Given the description of an element on the screen output the (x, y) to click on. 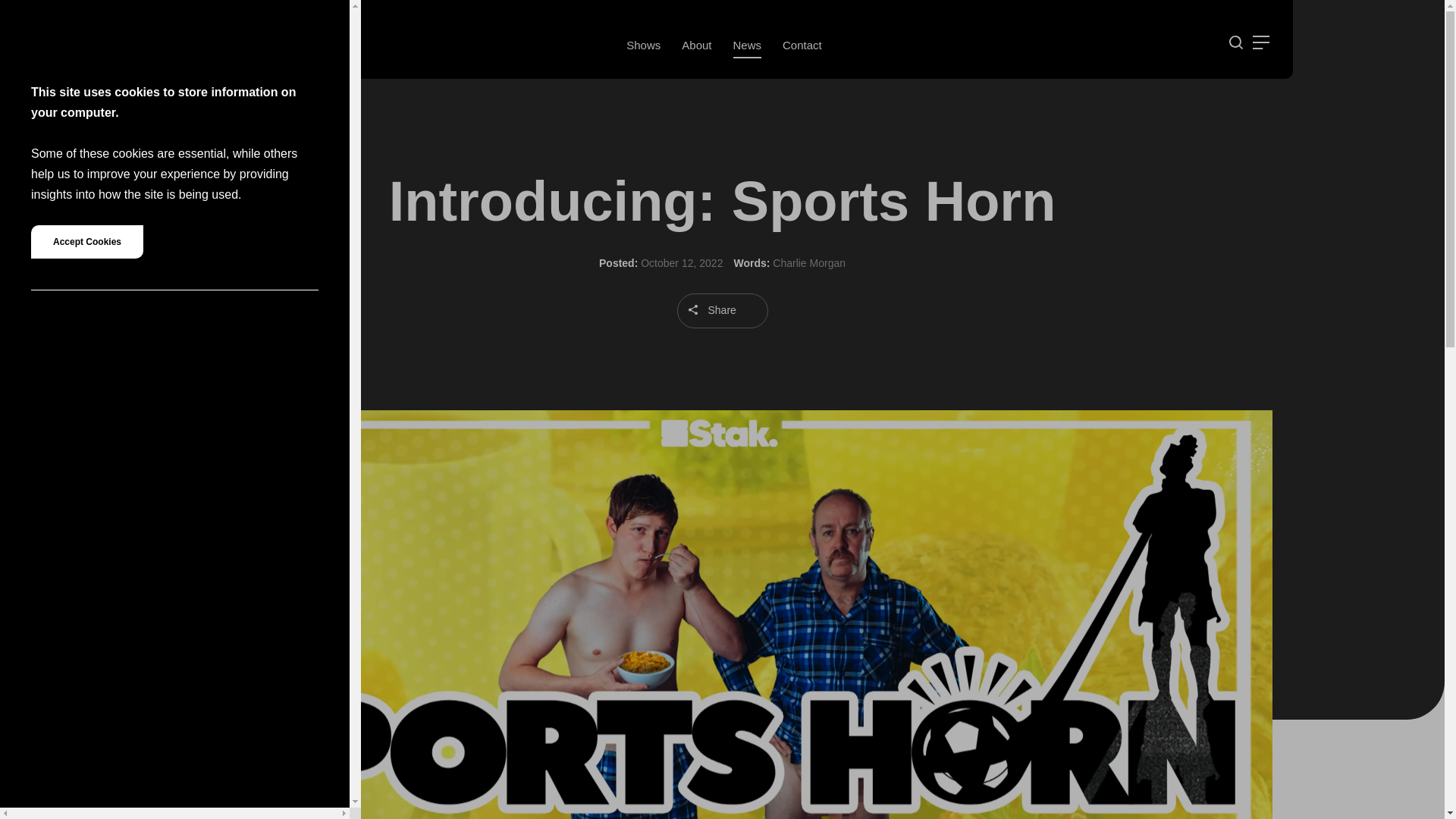
Share (722, 310)
About (696, 45)
News (746, 45)
Toggle Menu (1260, 42)
Shows (643, 45)
Accept Cookies (86, 241)
Contact (802, 45)
Reject cookies (310, 18)
